Given the description of an element on the screen output the (x, y) to click on. 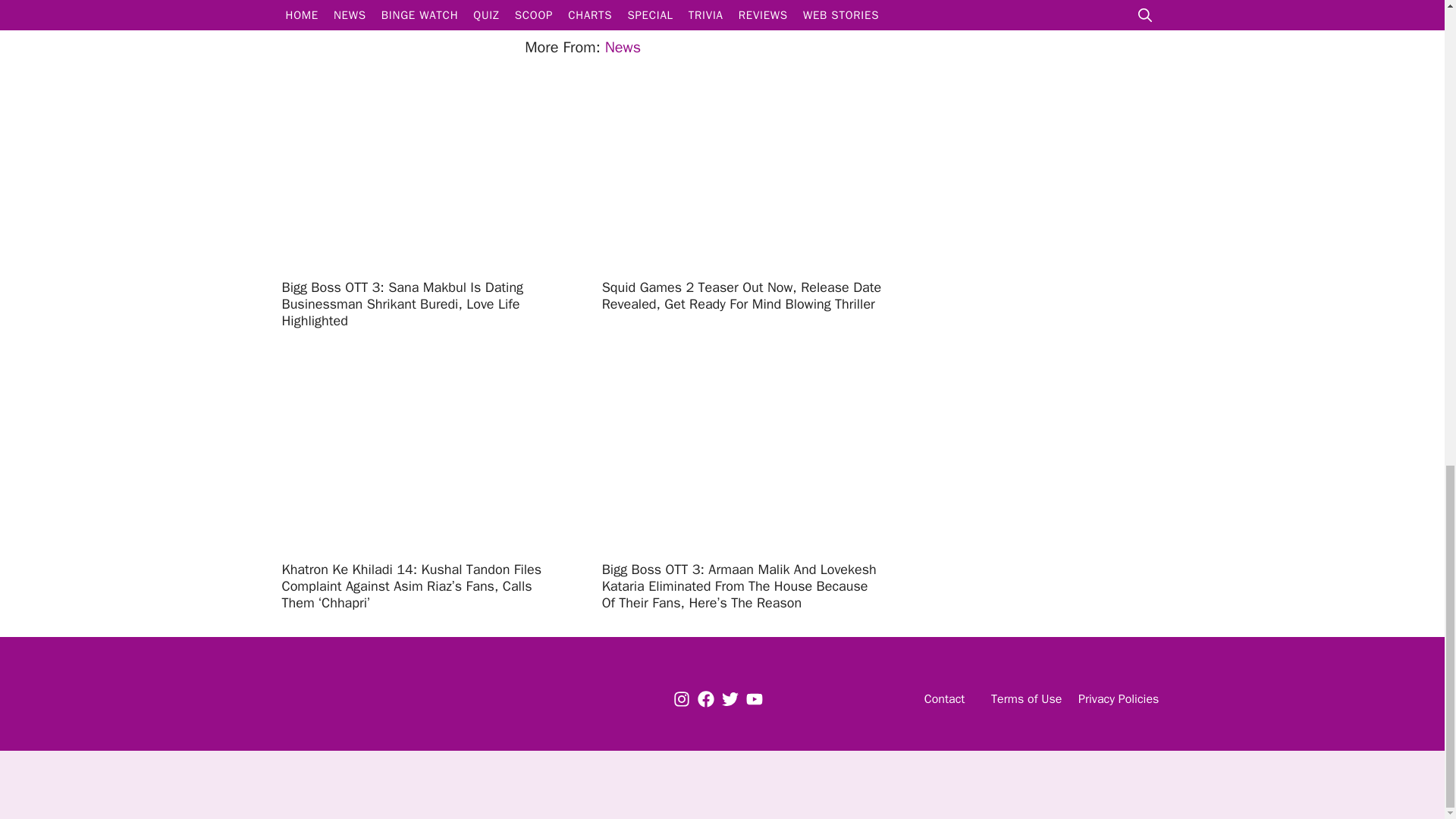
Logo x1 (372, 699)
